Given the description of an element on the screen output the (x, y) to click on. 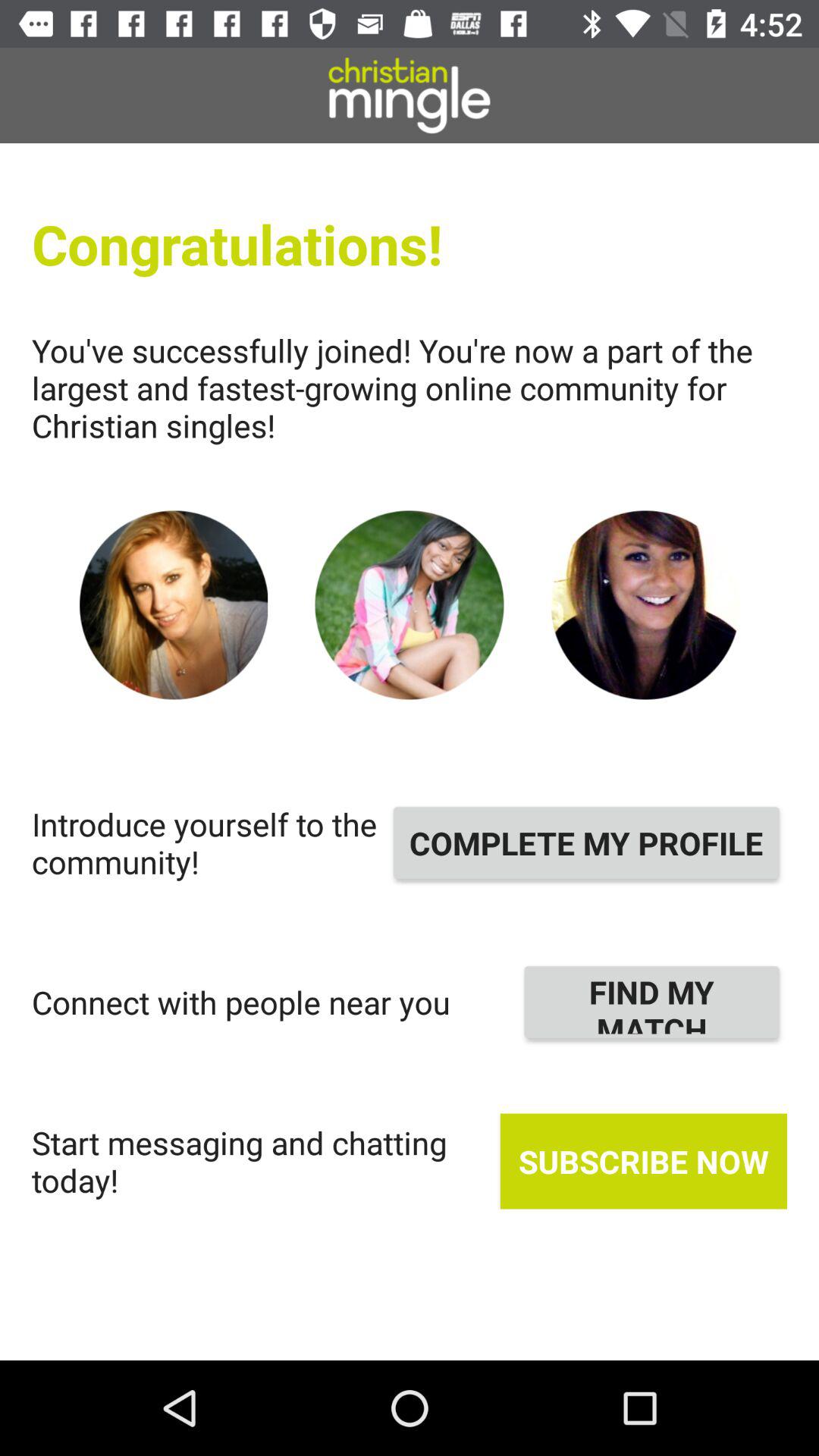
swipe to complete my profile (586, 842)
